Given the description of an element on the screen output the (x, y) to click on. 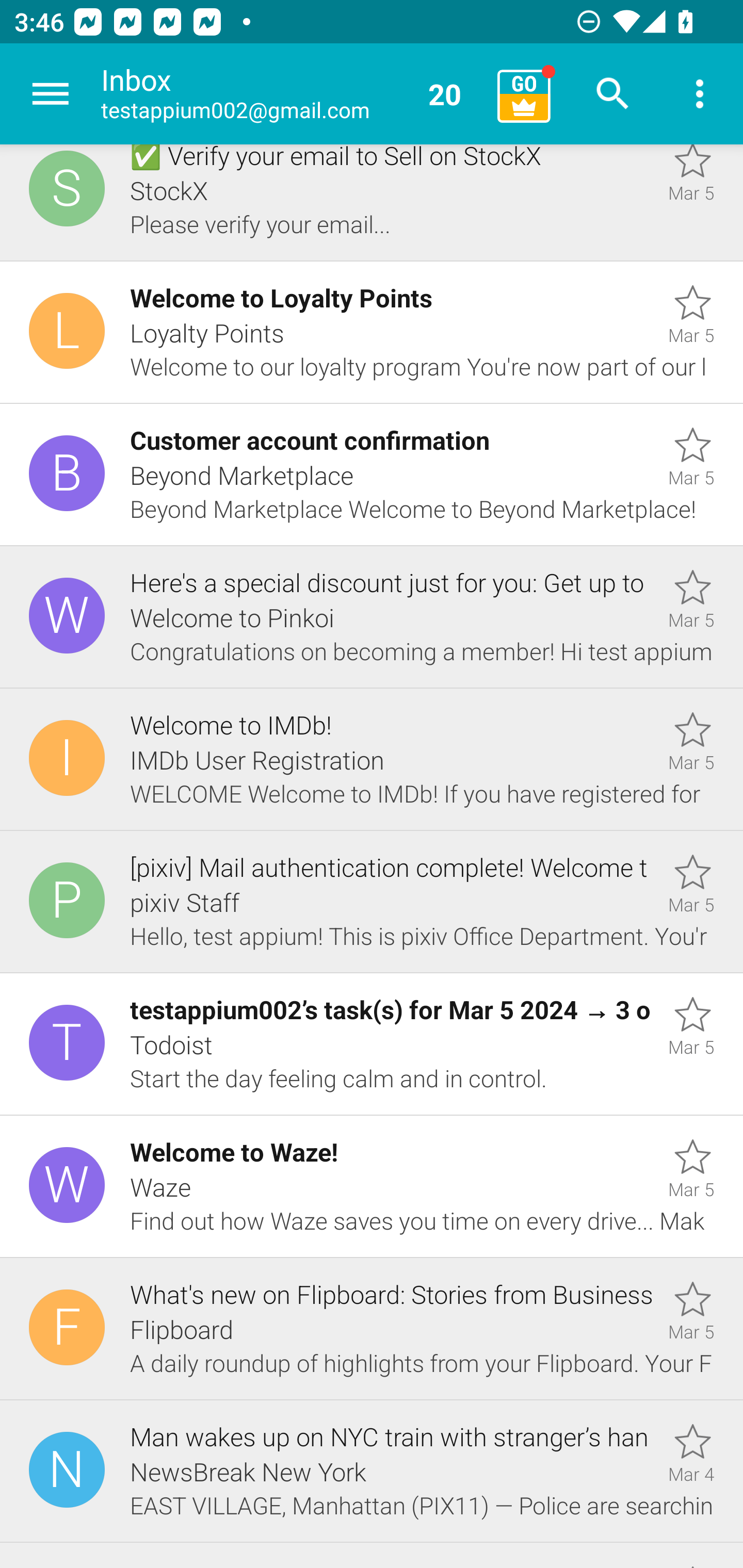
Navigate up (50, 93)
Inbox testappium002@gmail.com 20 (291, 93)
Search (612, 93)
More options (699, 93)
